Given the description of an element on the screen output the (x, y) to click on. 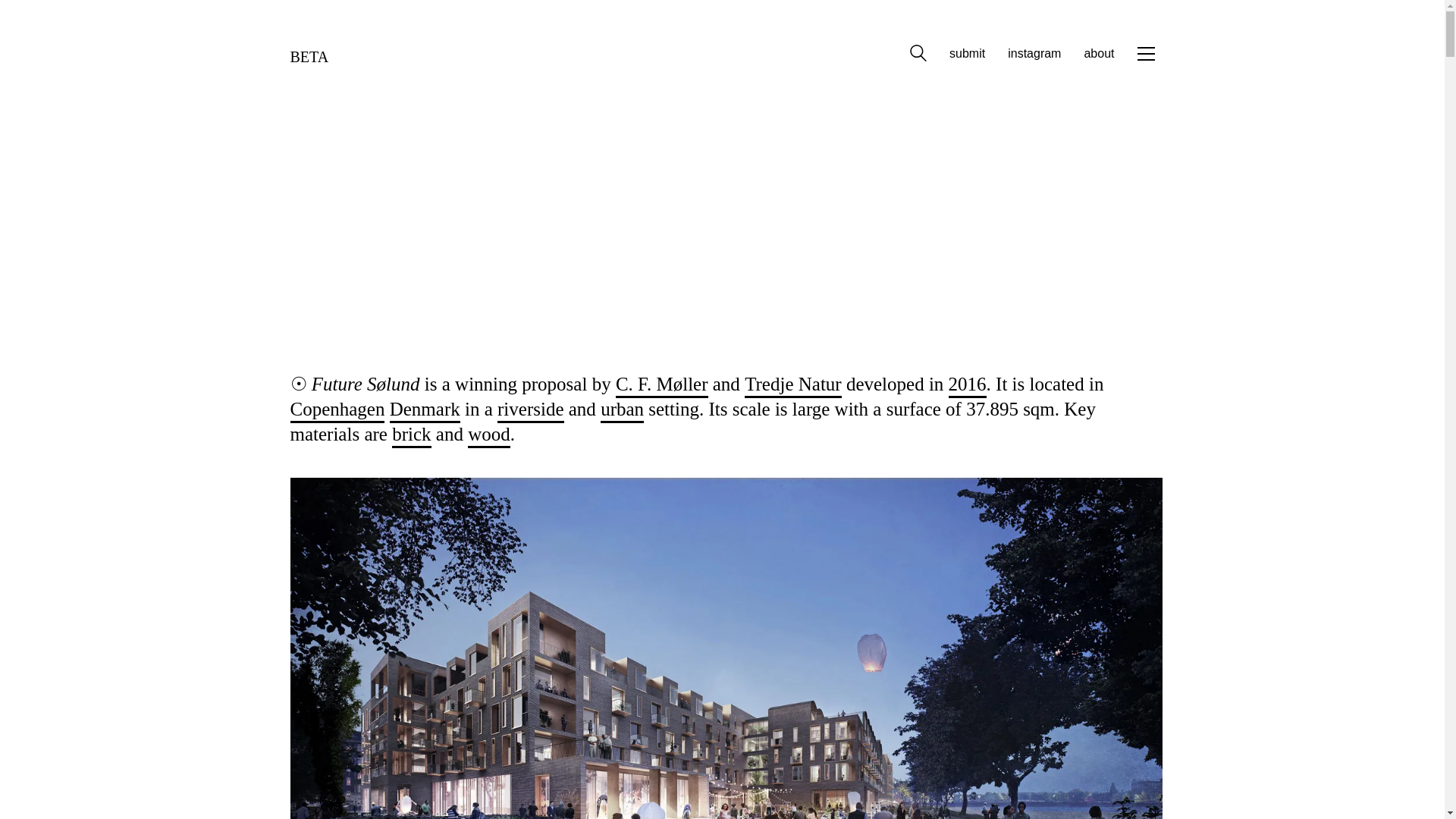
wood's archive (489, 435)
about (1098, 53)
brick (410, 435)
BETA (309, 53)
brick's archive (410, 435)
instagram (1034, 53)
Copenhagen (336, 410)
submit (967, 53)
Denmark (425, 410)
Denmark (425, 410)
